Given the description of an element on the screen output the (x, y) to click on. 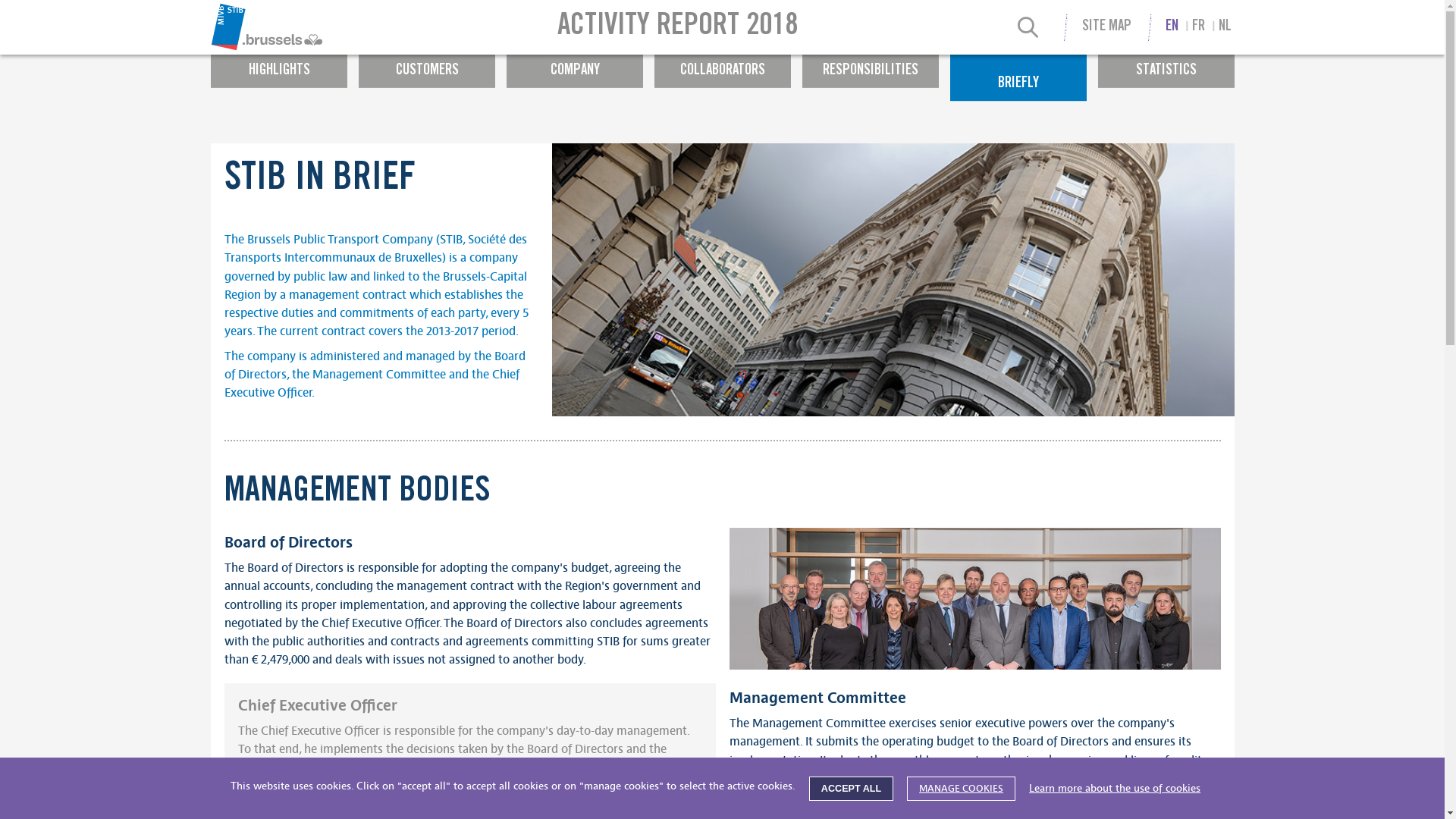
STATISTICS Element type: text (1166, 63)
Search Element type: hover (1028, 29)
COMPANY Element type: text (574, 63)
BRIEFLY Element type: text (1017, 76)
Diversity Element type: text (604, 19)
ACCEPT ALL Element type: text (851, 788)
CUSTOMERS Element type: text (425, 63)
MANAGE COOKIES Element type: text (960, 788)
HIGHLIGHTS Element type: text (278, 63)
RESPONSIBILITIES Element type: text (870, 63)
Learn more about the use of cookies Element type: text (1114, 787)
FR Element type: text (1198, 26)
NL Element type: text (1224, 26)
COLLABORATORS Element type: text (721, 63)
EN Element type: text (1172, 26)
